Given the description of an element on the screen output the (x, y) to click on. 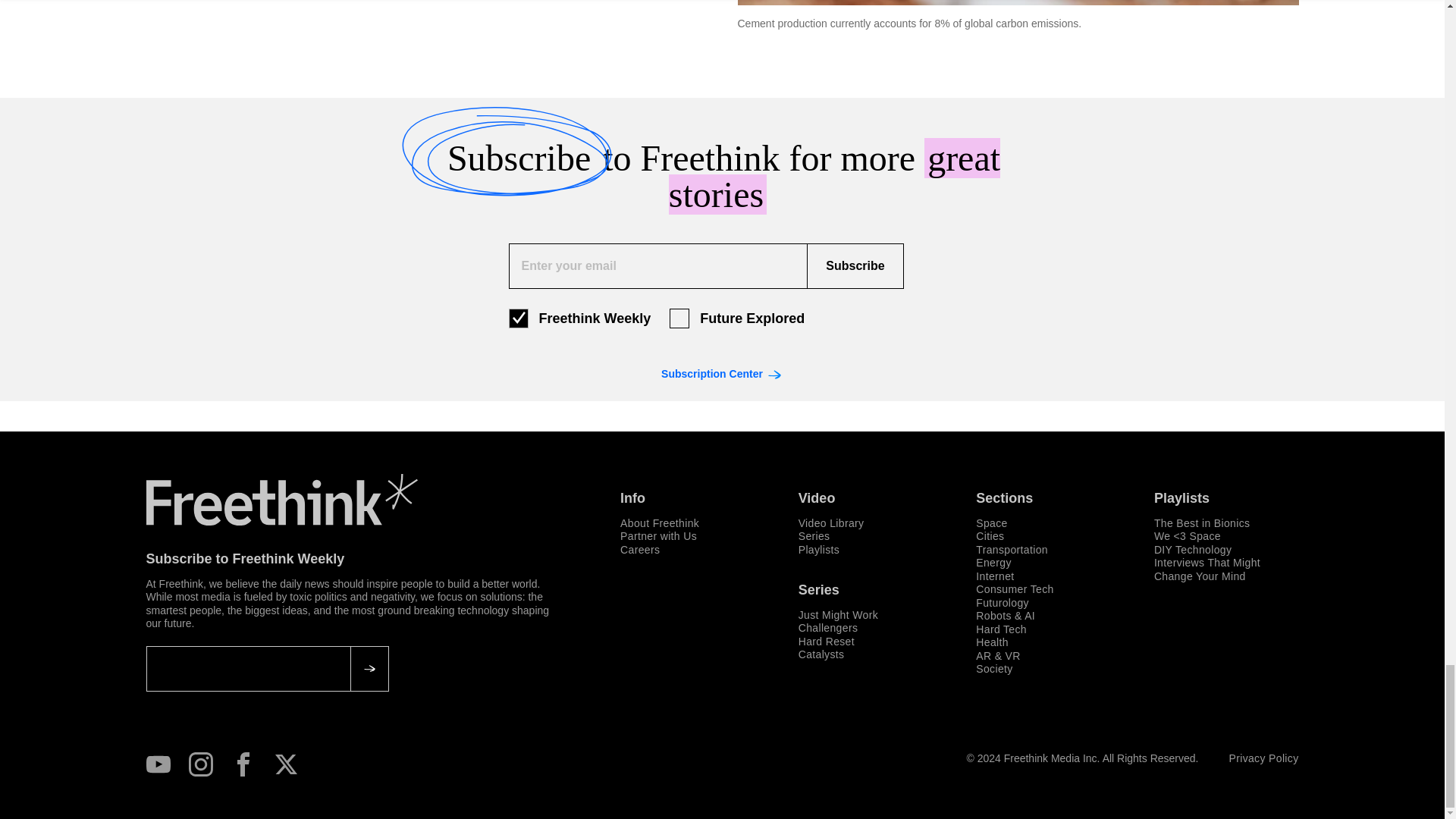
Subscribe (854, 266)
